Given the description of an element on the screen output the (x, y) to click on. 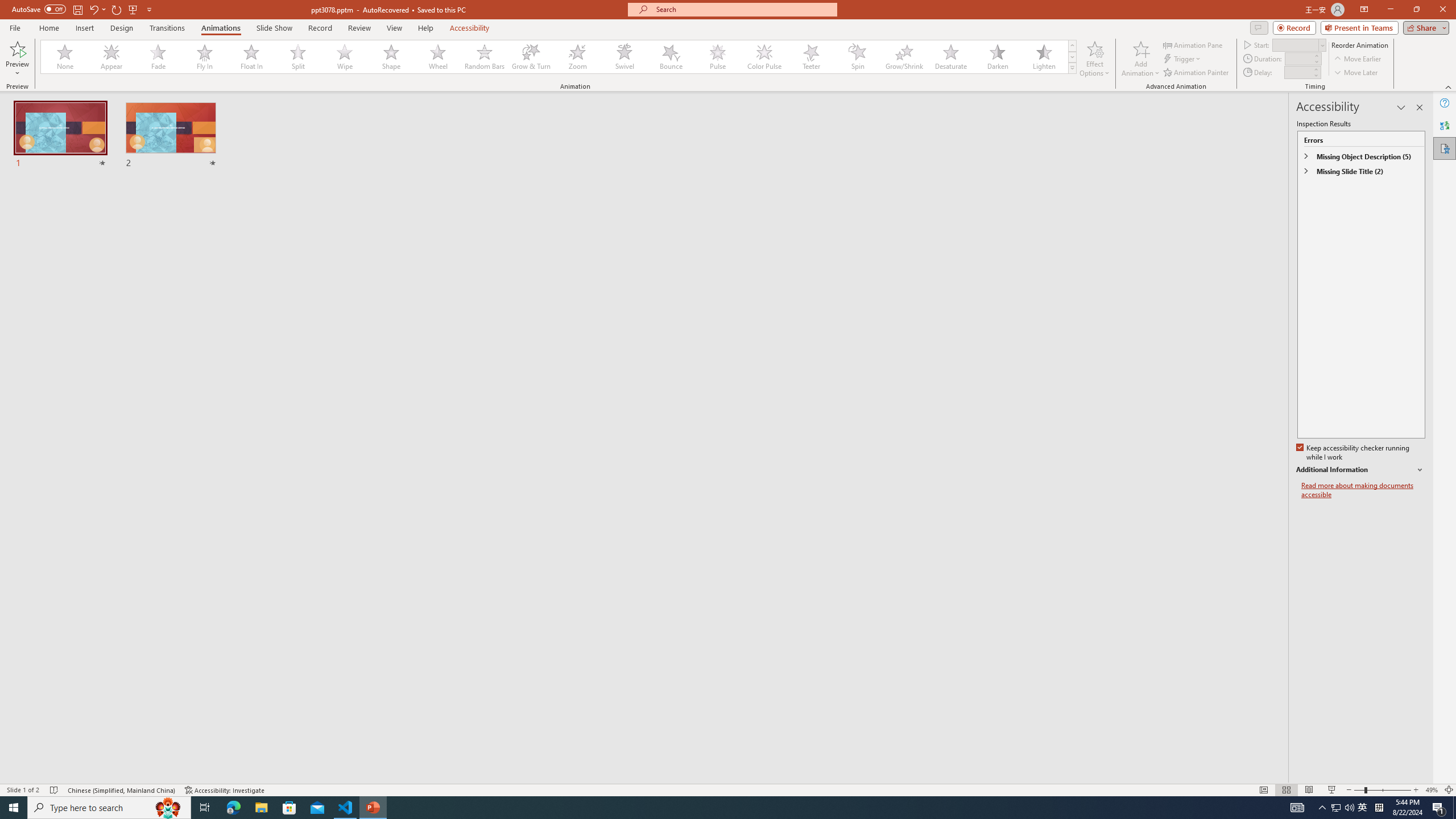
Add Animation (1141, 58)
Wipe (344, 56)
Animation Pane (1193, 44)
